Given the description of an element on the screen output the (x, y) to click on. 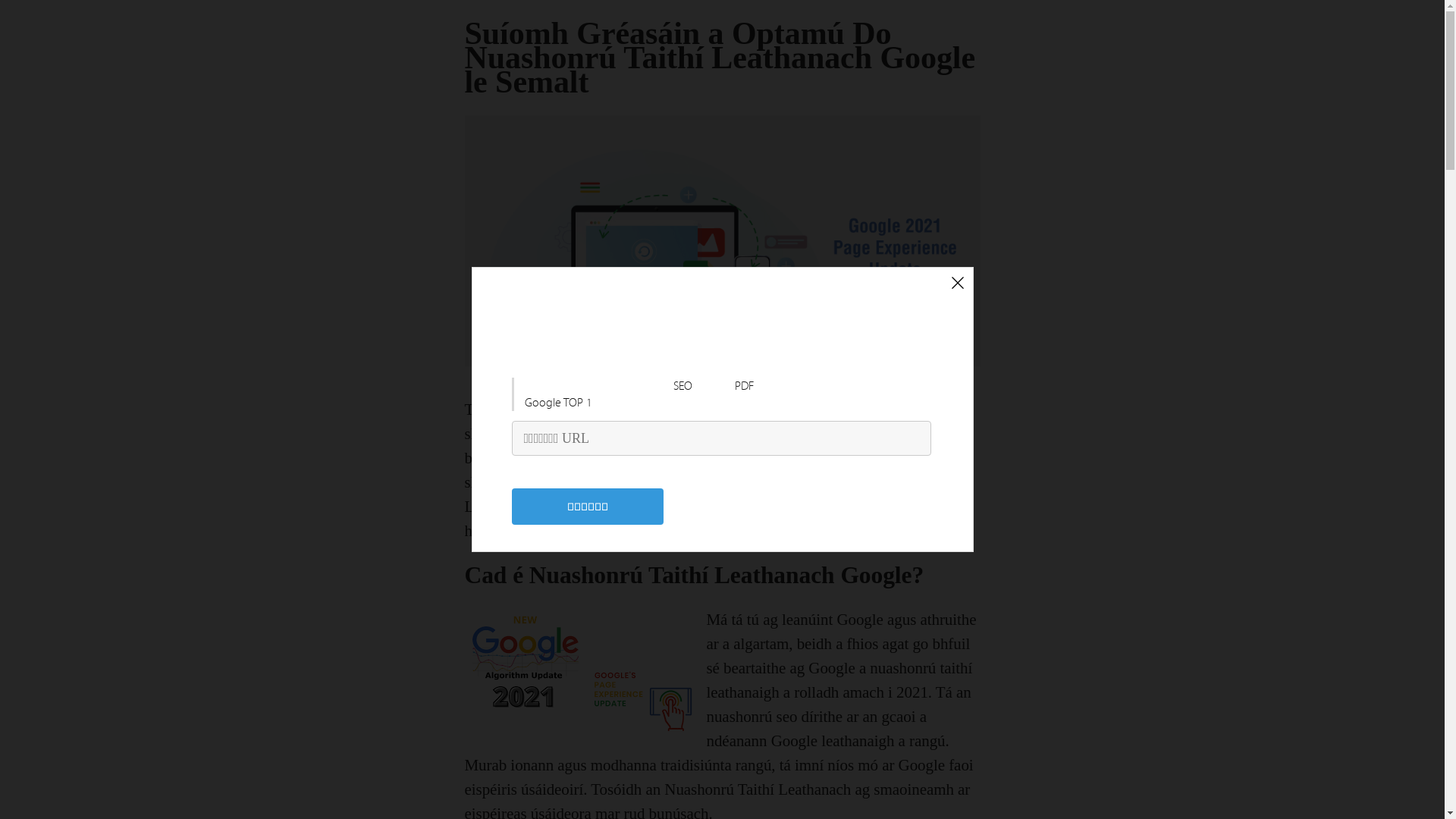
Semalt Element type: text (865, 433)
